Given the description of an element on the screen output the (x, y) to click on. 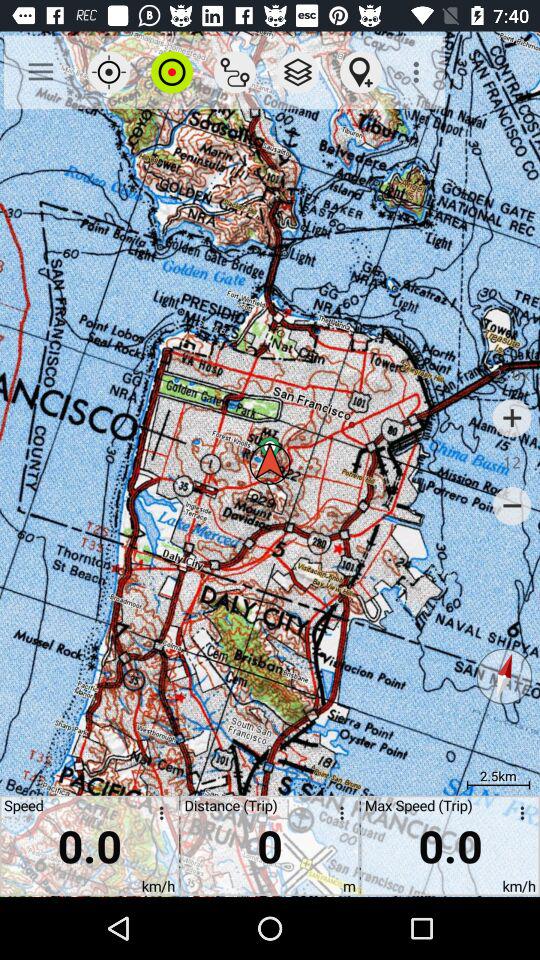
go to max speed menu (519, 816)
